Given the description of an element on the screen output the (x, y) to click on. 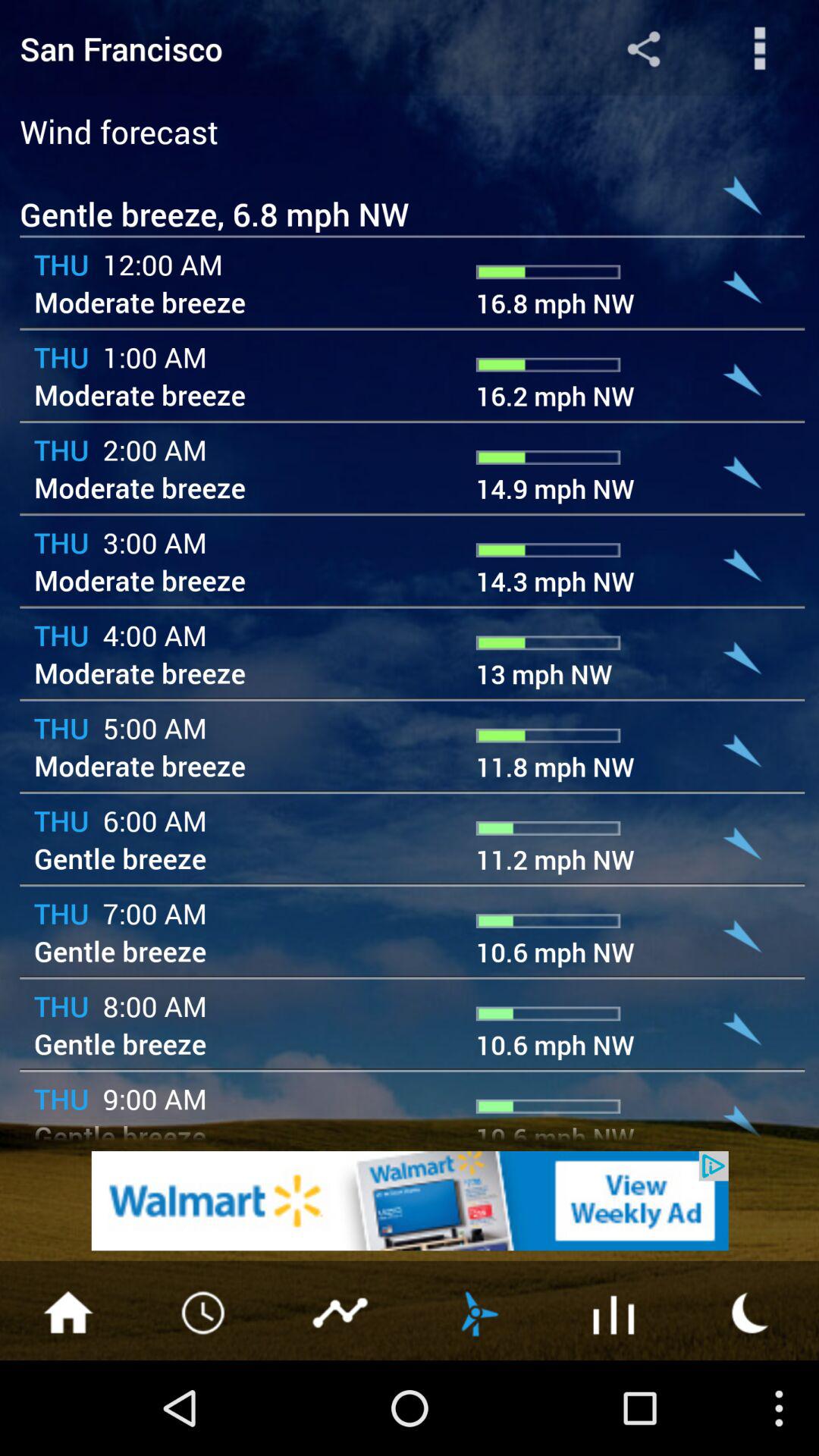
clock button (204, 1311)
